Given the description of an element on the screen output the (x, y) to click on. 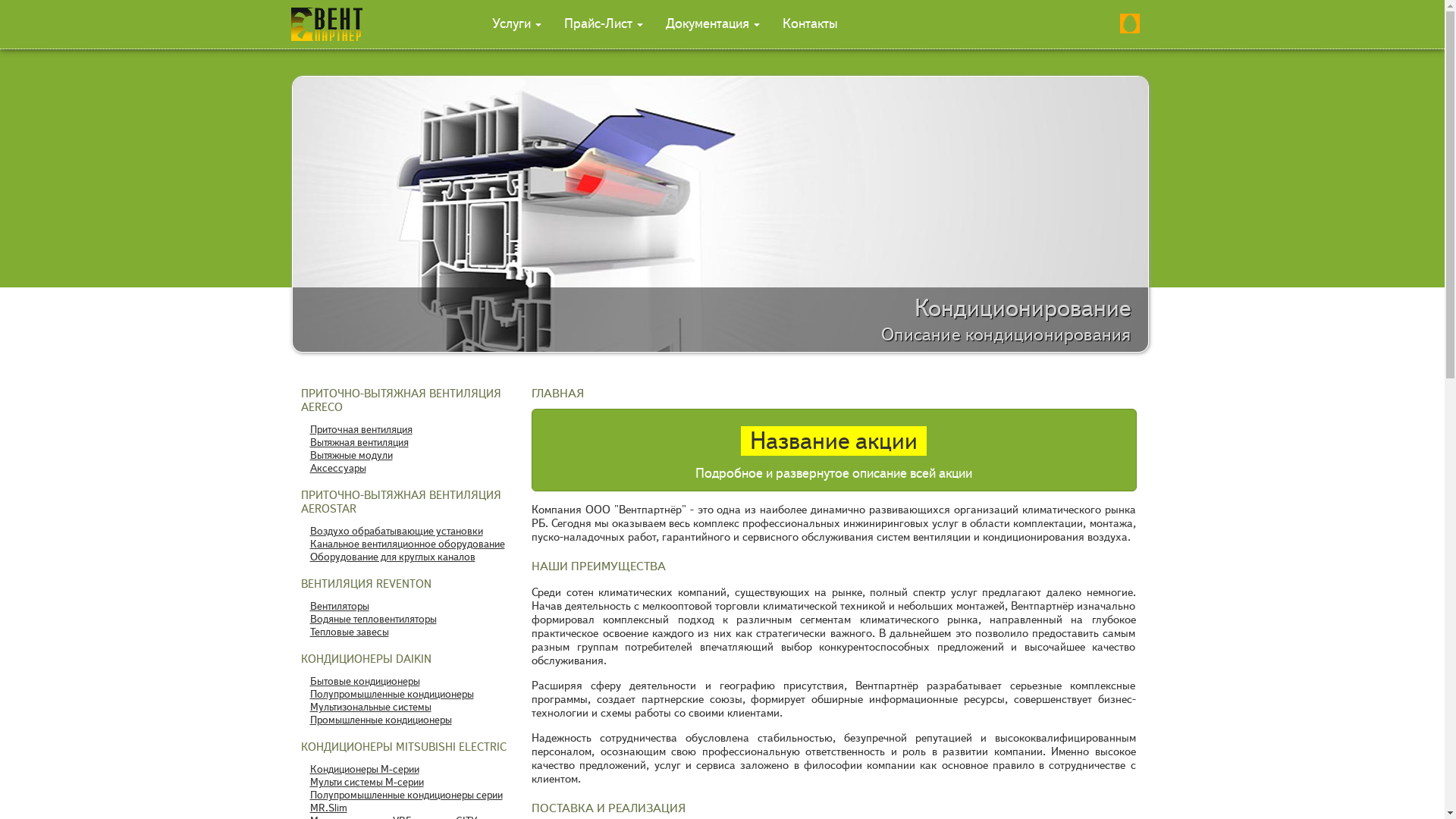
http://ventpartner.by Element type: hover (316, 24)
http://ventpartner.by Element type: hover (326, 23)
